Given the description of an element on the screen output the (x, y) to click on. 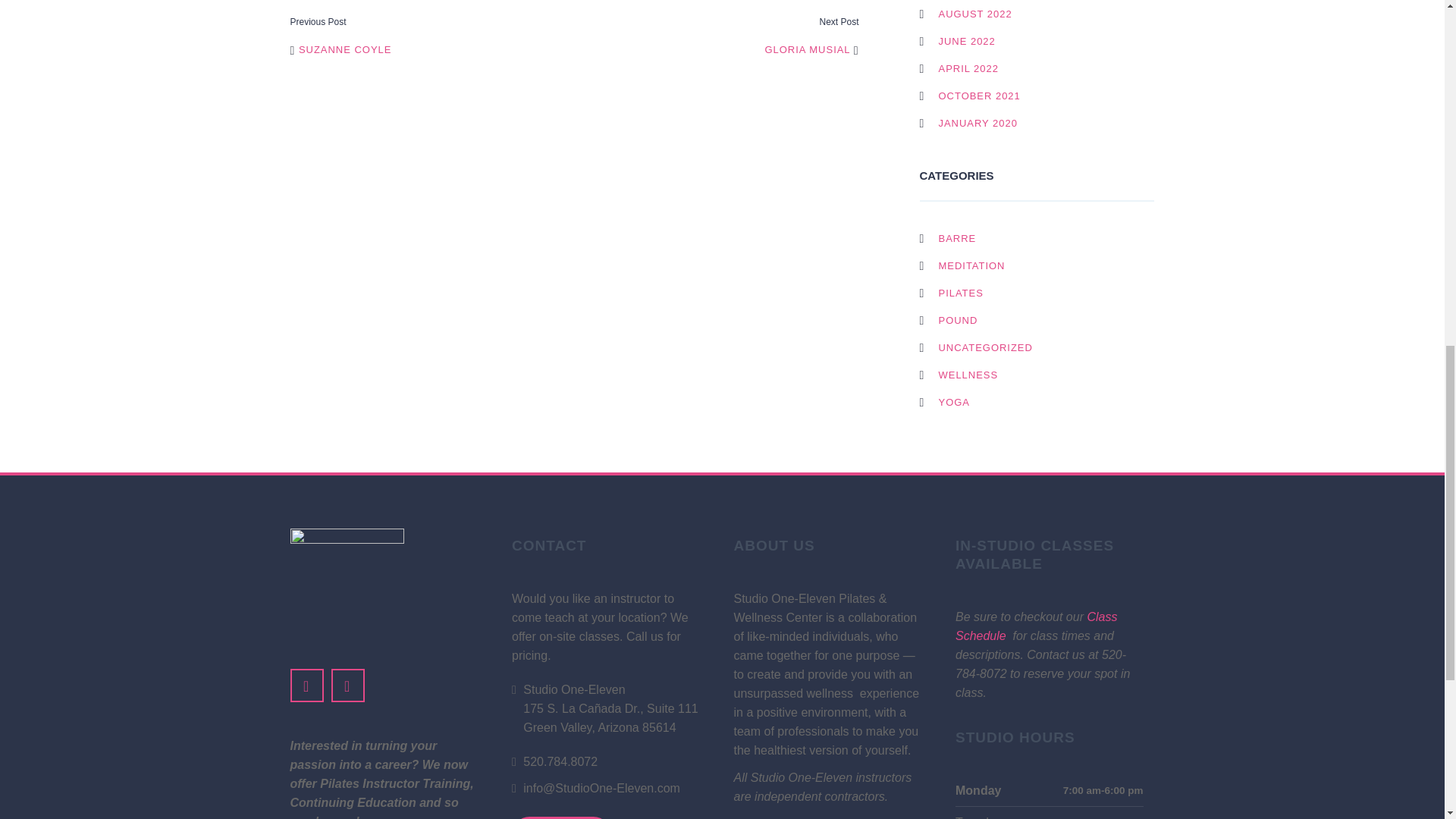
Contact (561, 817)
 SUZANNE COYLE (340, 49)
Facebook (306, 685)
Instagram (346, 685)
GLORIA MUSIAL  (811, 49)
